Given the description of an element on the screen output the (x, y) to click on. 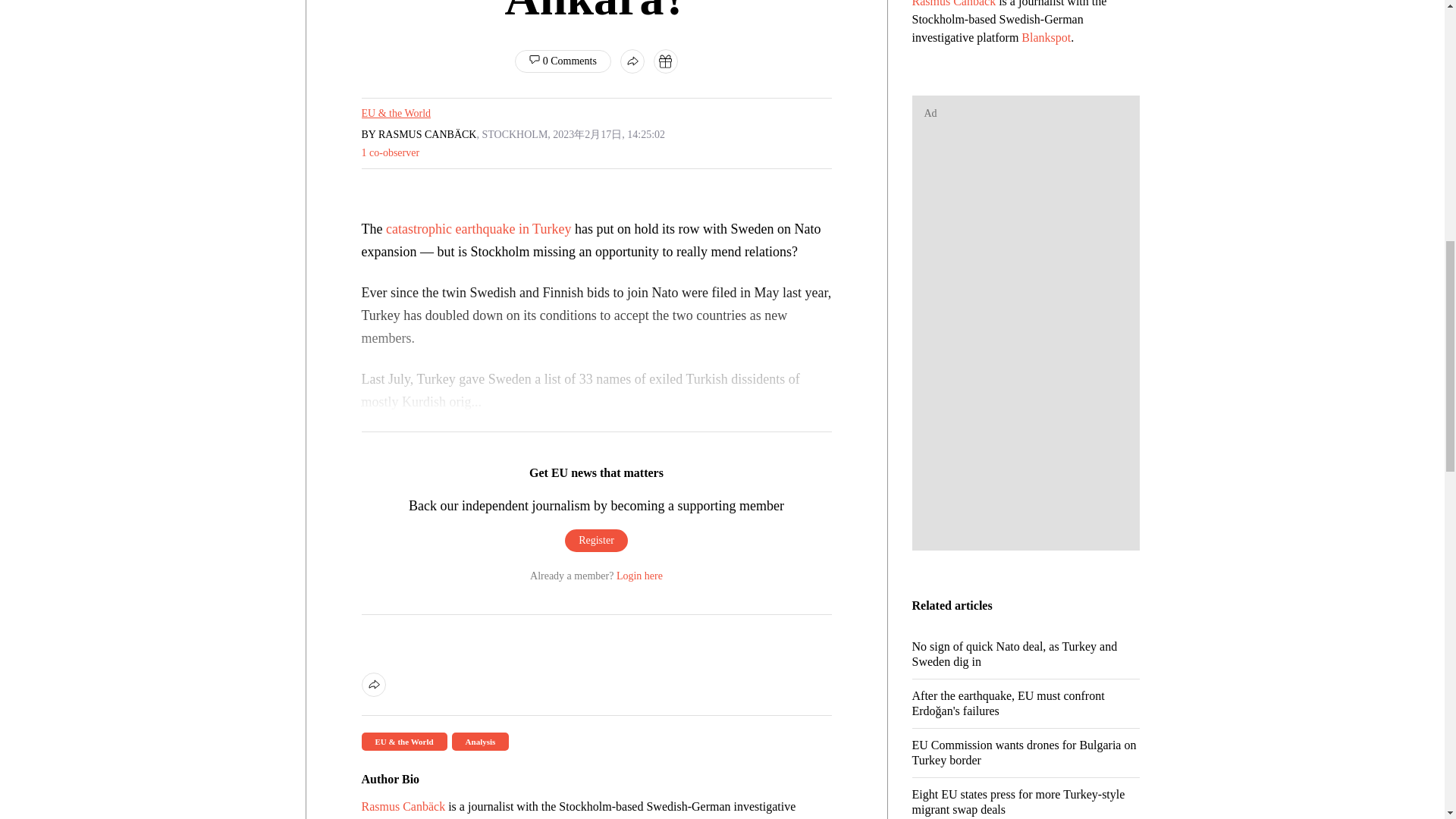
Blankspot (1046, 37)
catastrophic earthquake in Turkey (477, 228)
0 Comments (563, 60)
EU Commission wants drones for Bulgaria on Turkey border (1024, 757)
Blankspot (430, 818)
Register (595, 540)
Login here (638, 575)
Analysis (480, 740)
No sign of quick Nato deal, as Turkey and Sweden dig in (1024, 659)
